Given the description of an element on the screen output the (x, y) to click on. 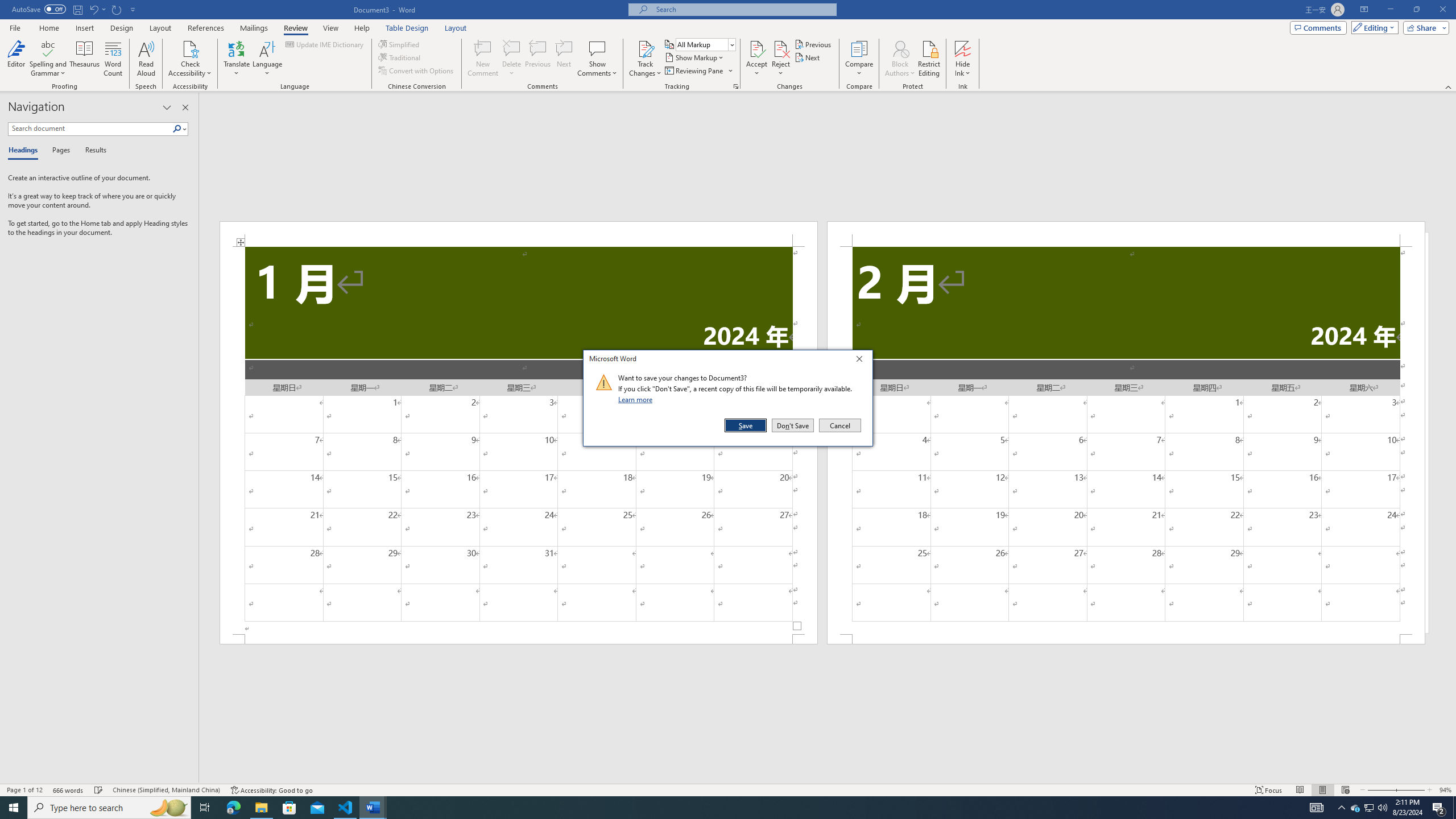
Header -Section 2- (1126, 233)
Read Aloud (145, 58)
Check Accessibility (189, 48)
Track Changes (644, 58)
Running applications (717, 807)
Track Changes (644, 48)
Learn more (636, 399)
